Given the description of an element on the screen output the (x, y) to click on. 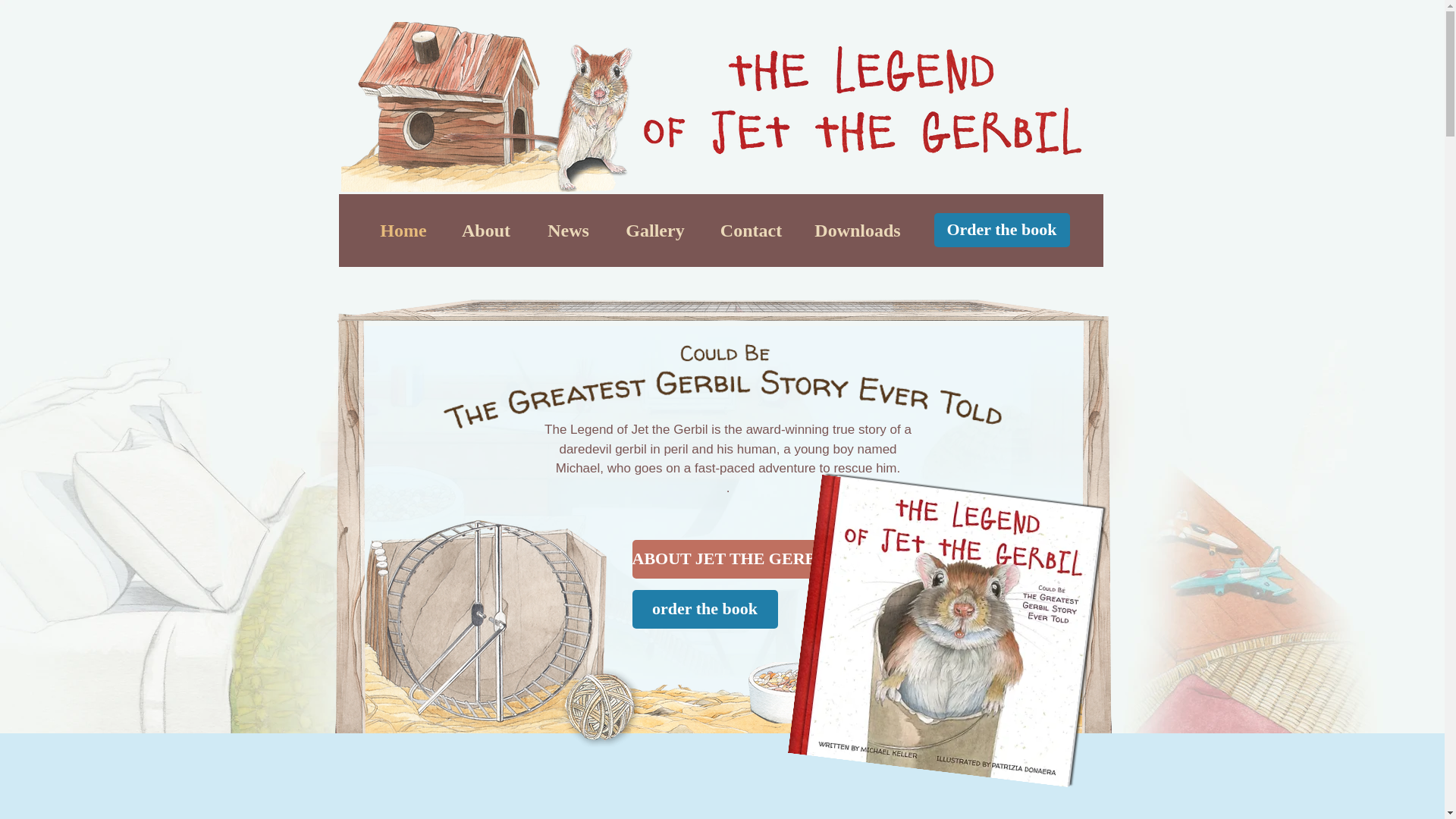
About (486, 230)
Home (403, 230)
Gallery (654, 230)
News (567, 230)
Downloads (857, 230)
Contact (750, 230)
order the book (704, 608)
Order the book (1002, 229)
ABOUT JET THE GERBIL (732, 558)
